Given the description of an element on the screen output the (x, y) to click on. 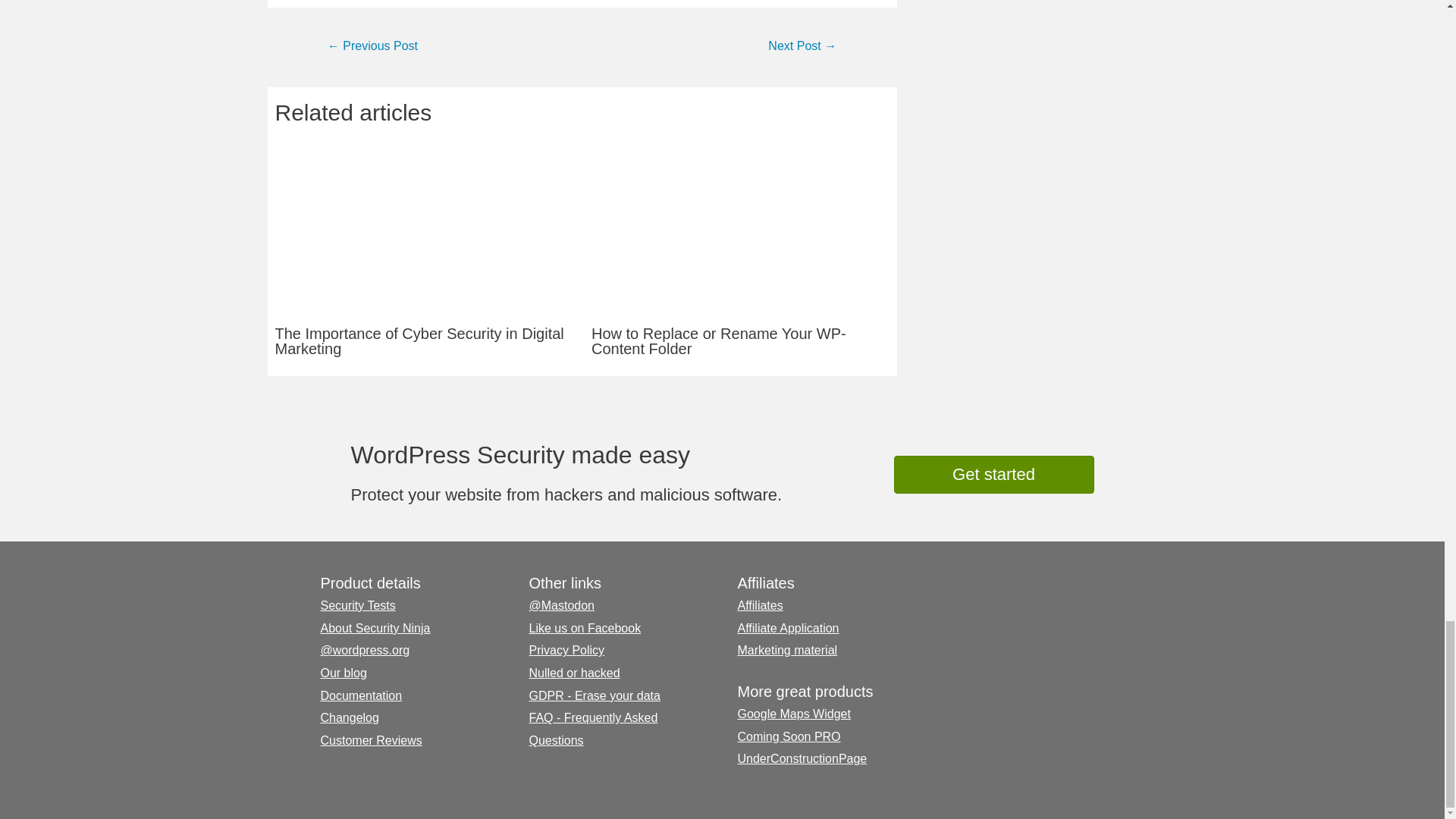
How to Create and Add a Logo to a WordPress Site (371, 47)
7 Ways to Improve the Speed and Performance of Your Blog (801, 47)
